Given the description of an element on the screen output the (x, y) to click on. 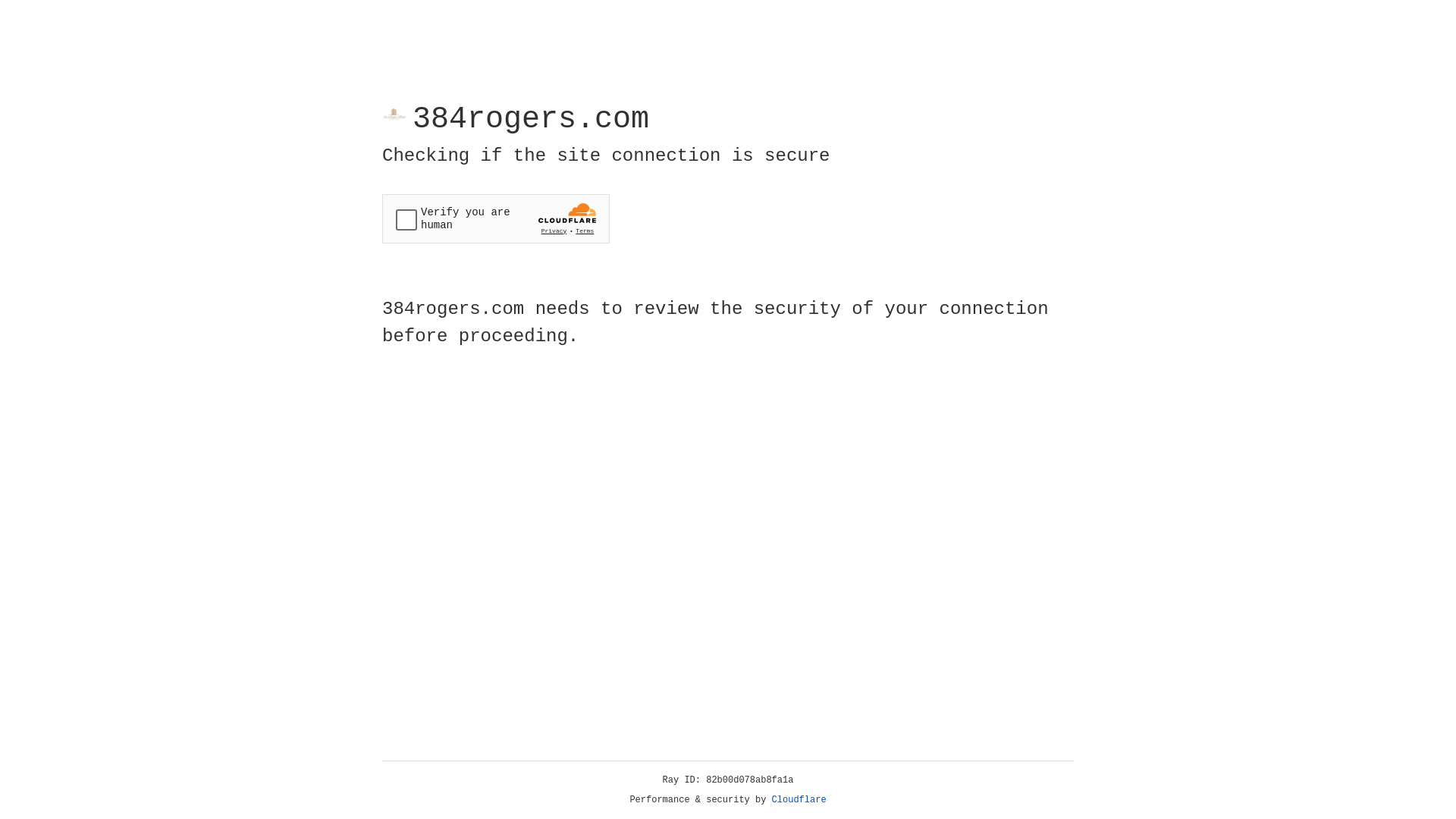
Widget containing a Cloudflare security challenge Element type: hover (495, 218)
Cloudflare Element type: text (798, 799)
